Given the description of an element on the screen output the (x, y) to click on. 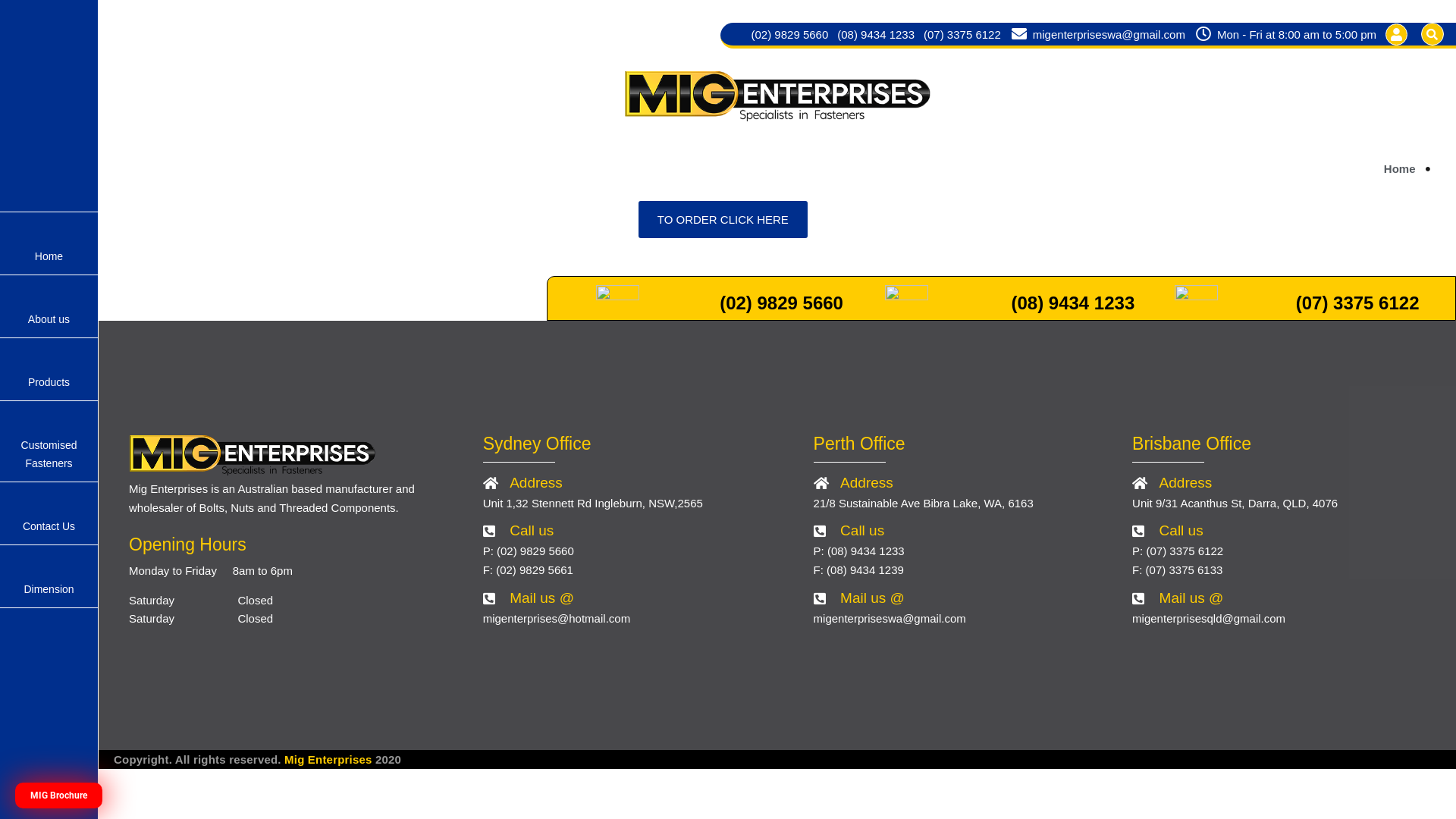
(08) 9434 1233 Element type: text (1072, 302)
TO ORDER CLICK HERE Element type: text (722, 219)
Dimension Element type: text (48, 575)
(07) 3375 6122 Element type: text (962, 33)
Mon - Fri at 8:00 am to 5:00 pm Element type: text (1285, 33)
(07) 3375 6122 Element type: text (1357, 302)
migenterpriseswa@gmail.com Element type: text (1097, 33)
Customised Fasteners Element type: text (48, 440)
Products Element type: text (48, 369)
Home Element type: text (1399, 168)
Contact Us Element type: text (48, 513)
Home Element type: text (48, 243)
MIG Brochure Element type: text (58, 794)
(02) 9829 5660 Element type: text (781, 302)
(08) 9434 1233 Element type: text (875, 33)
(02) 9829 5660 Element type: text (789, 33)
About us Element type: text (48, 305)
